Given the description of an element on the screen output the (x, y) to click on. 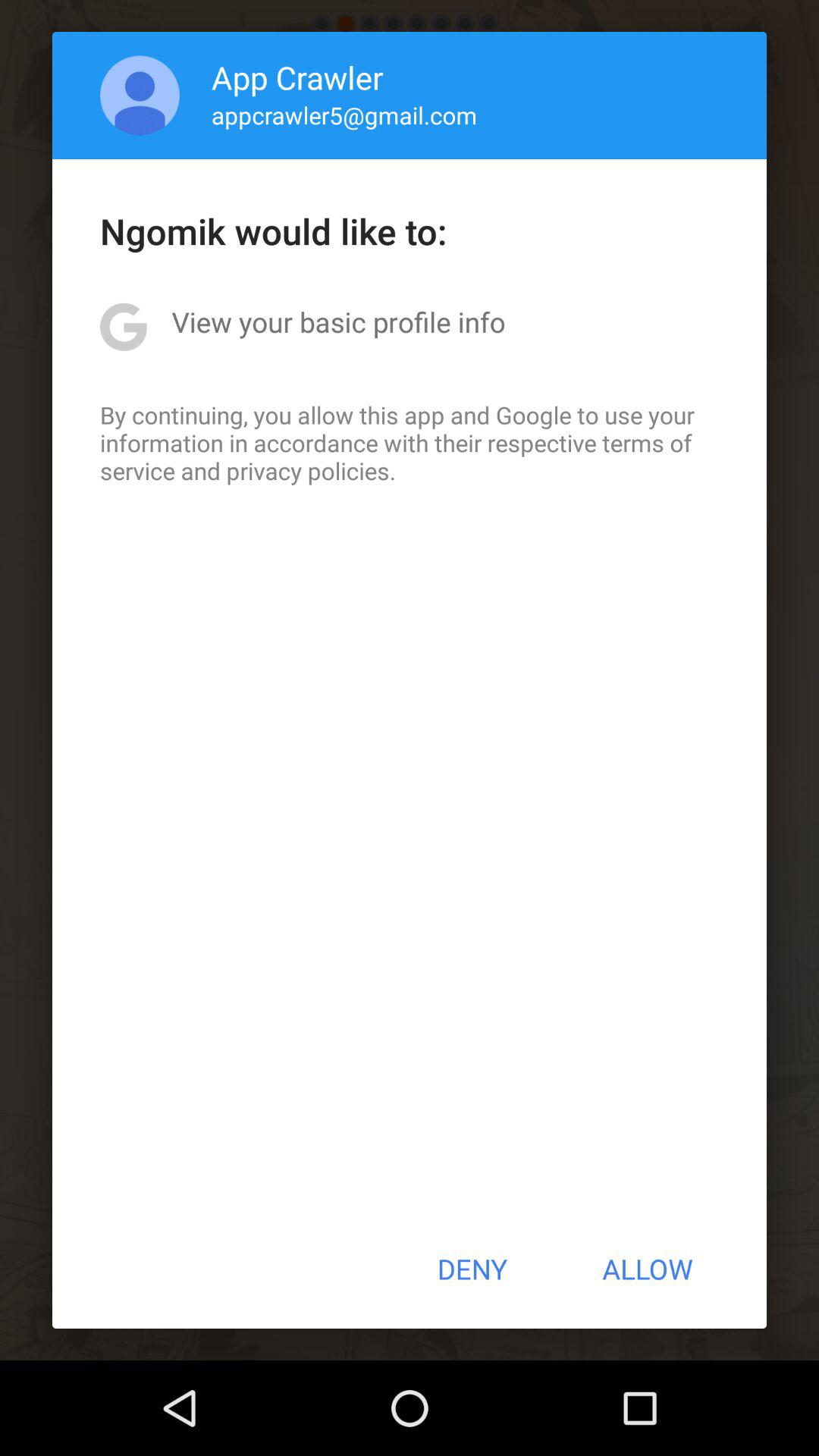
launch item below the ngomik would like (338, 321)
